Given the description of an element on the screen output the (x, y) to click on. 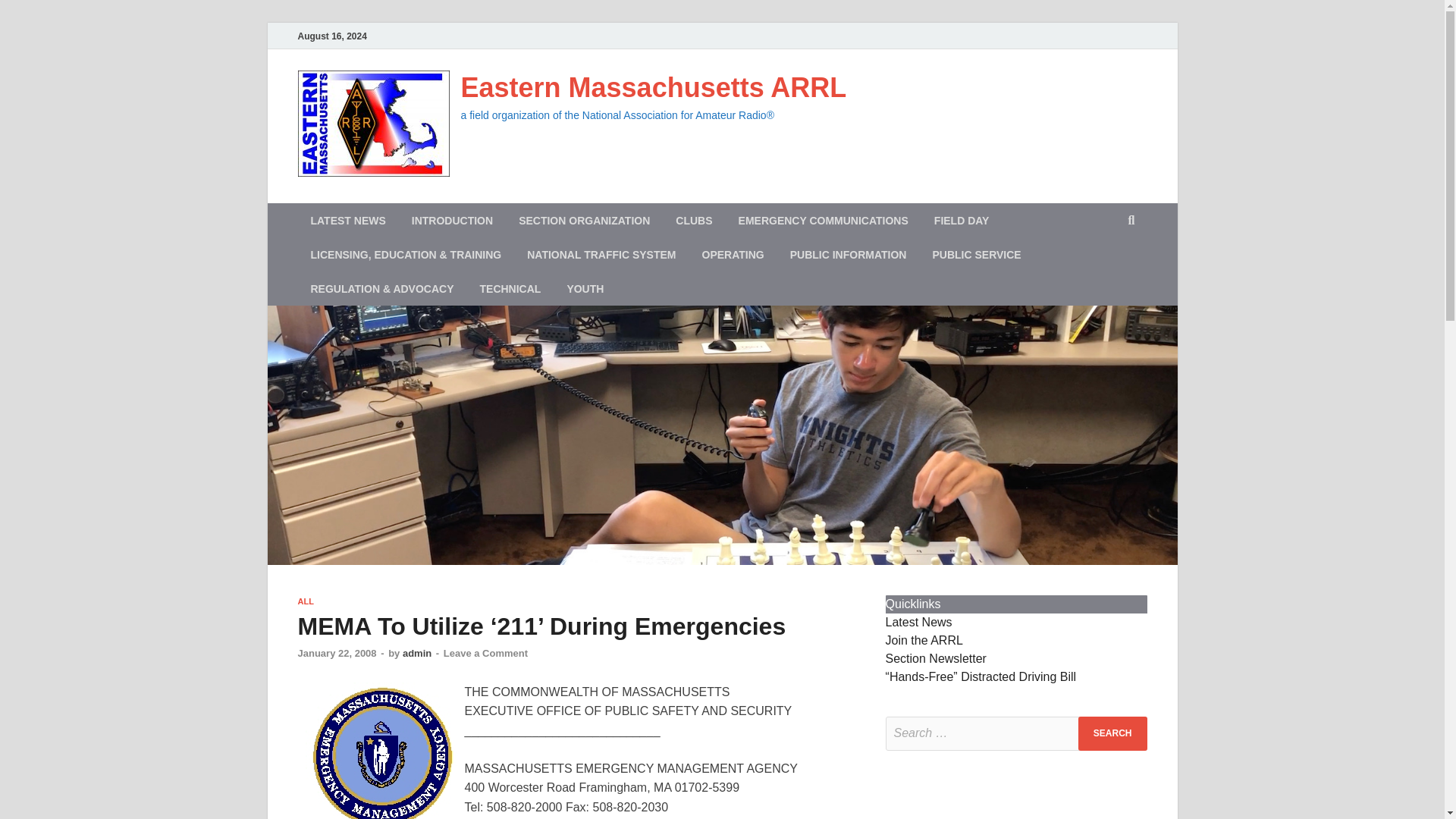
TECHNICAL (510, 288)
admin (416, 653)
Search (1112, 733)
Search (1112, 733)
Leave a Comment (485, 653)
EMERGENCY COMMUNICATIONS (823, 220)
January 22, 2008 (336, 653)
Join the ARRL (923, 640)
CLUBS (693, 220)
Section Newsletter (936, 658)
